Given the description of an element on the screen output the (x, y) to click on. 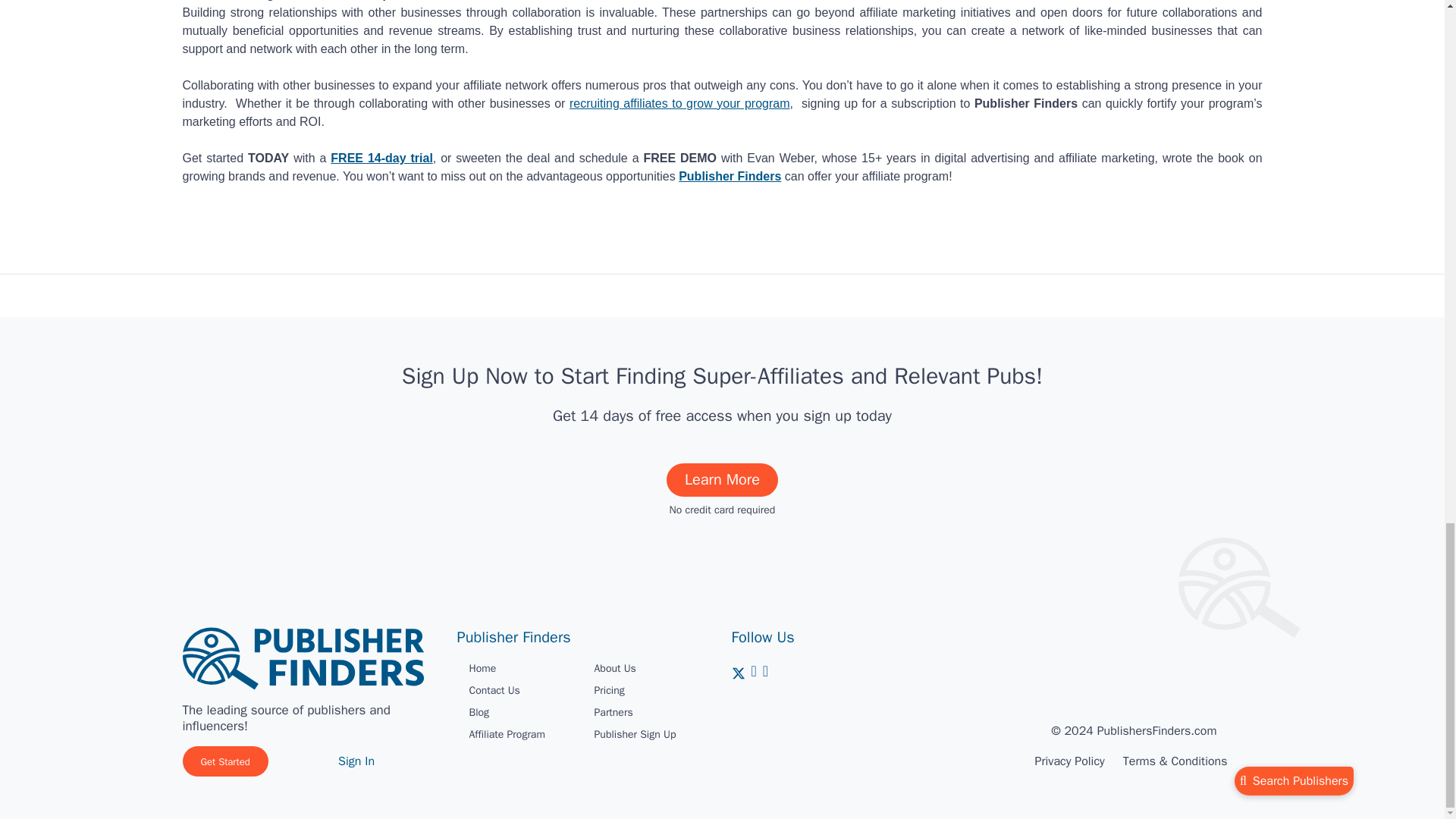
Affiliate Program (506, 734)
Pricing (609, 689)
Blog (478, 712)
Publisher Sign Up (635, 734)
recruiting affiliates to grow your program (679, 103)
Learn More (721, 479)
Home (482, 667)
Sign In (355, 761)
Get Started (224, 761)
About Us (615, 667)
